Given the description of an element on the screen output the (x, y) to click on. 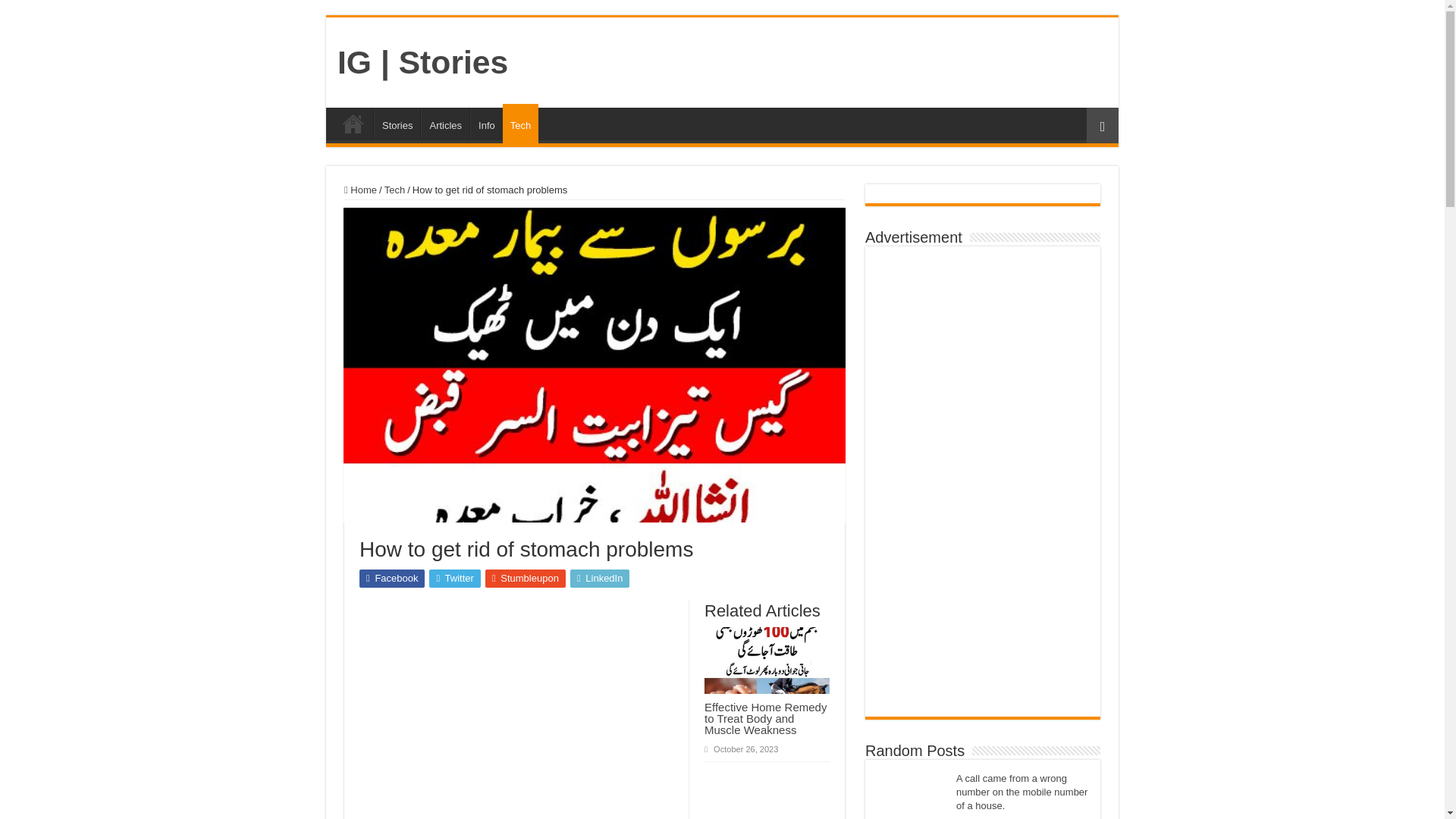
Home (352, 123)
Info (486, 123)
Twitter (454, 578)
LinkedIn (600, 578)
Effective Home Remedy to Treat Body and Muscle Weakness (765, 718)
Articles (444, 123)
Home (360, 189)
Stories (397, 123)
Facebook (392, 578)
